Given the description of an element on the screen output the (x, y) to click on. 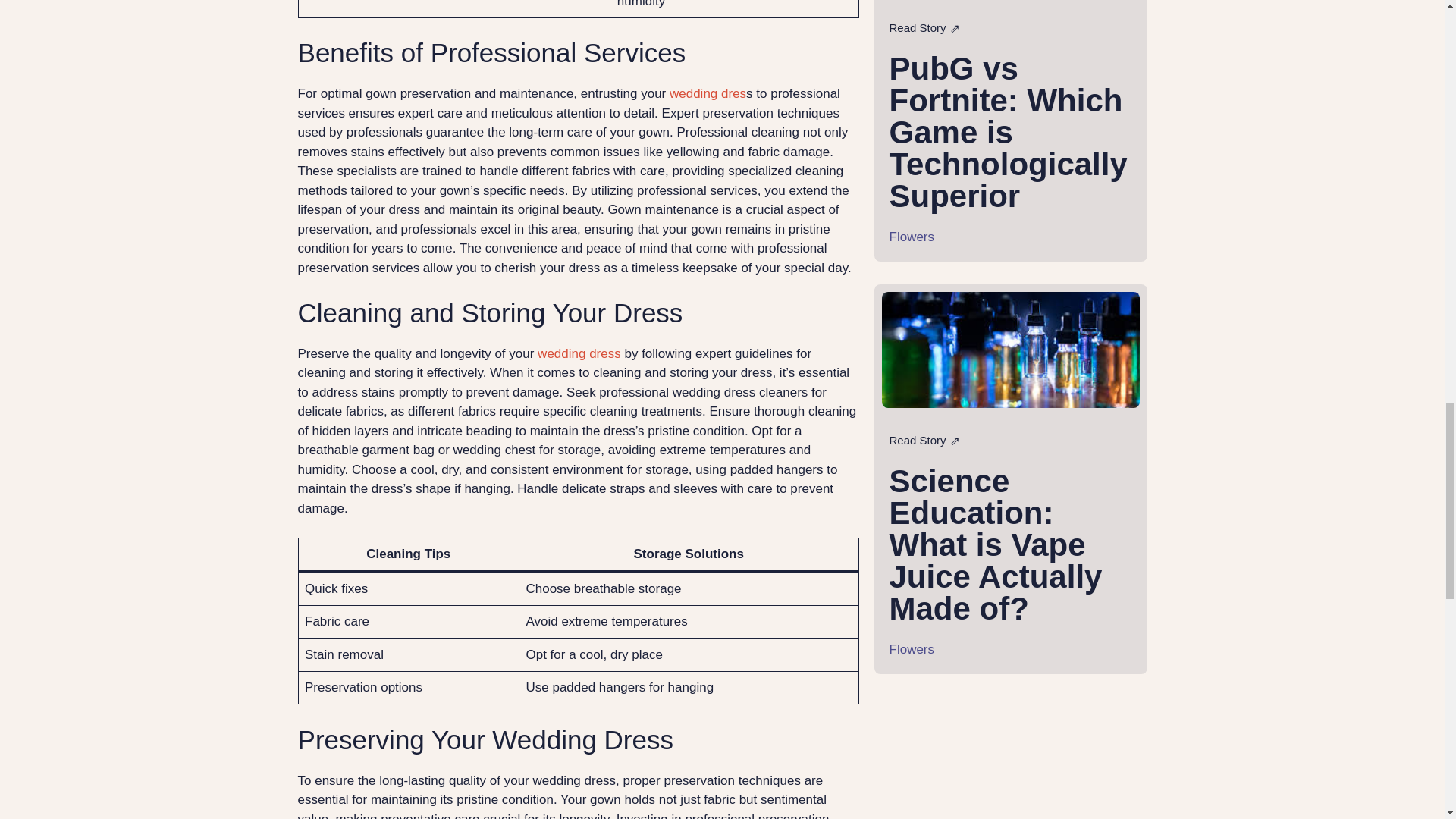
Science Education: What is Vape Juice Actually Made of? (995, 543)
Flowers (911, 236)
wedding dress (579, 352)
wedding dres (707, 93)
PubG vs Fortnite: Which Game is Technologically Superior (1007, 130)
Flowers (911, 648)
